Given the description of an element on the screen output the (x, y) to click on. 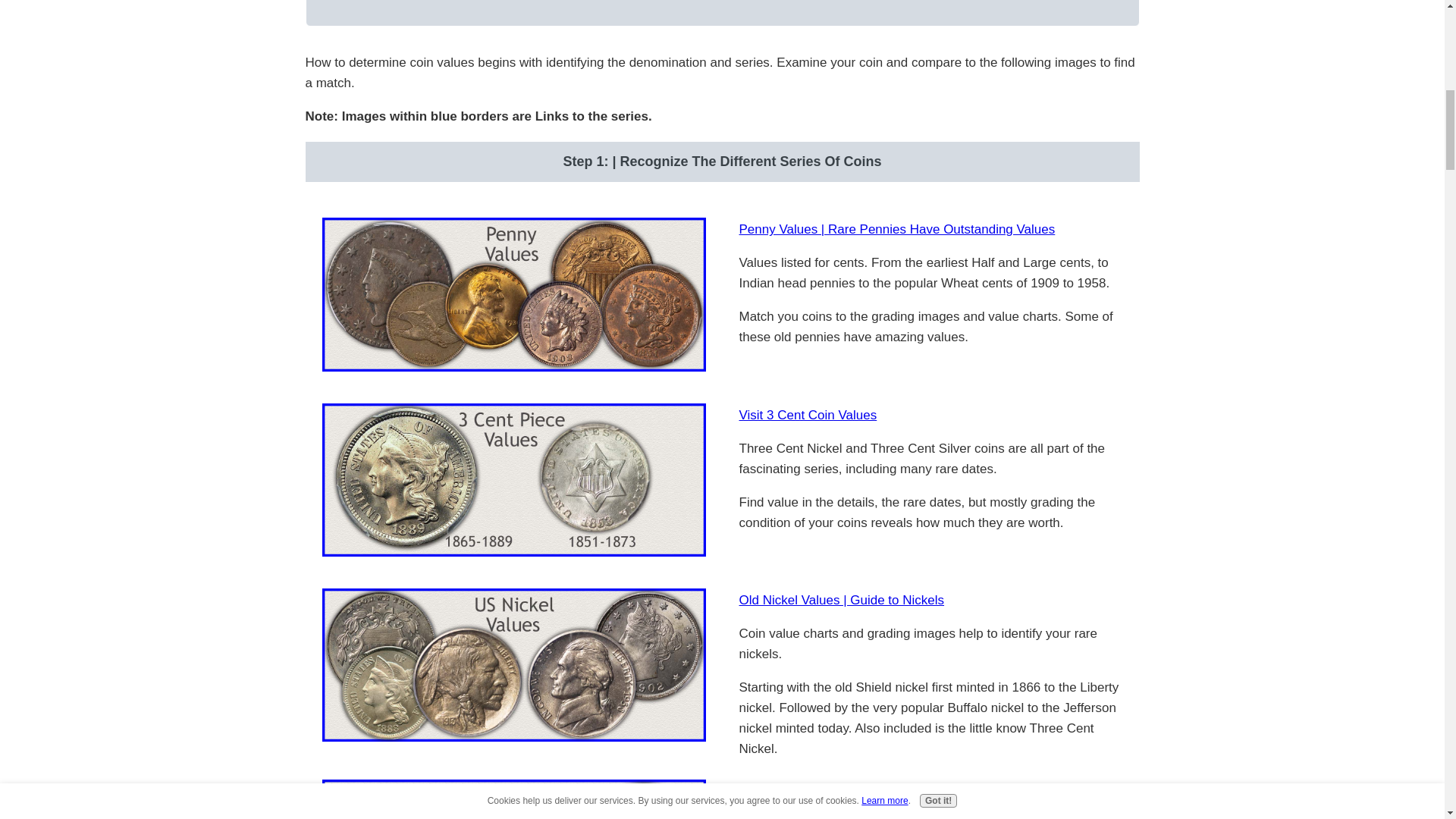
Visit....  3 Cent Coins (512, 479)
Visit...  Bust Half Dimes and Seated Liberty Half Dimes (512, 799)
